Given the description of an element on the screen output the (x, y) to click on. 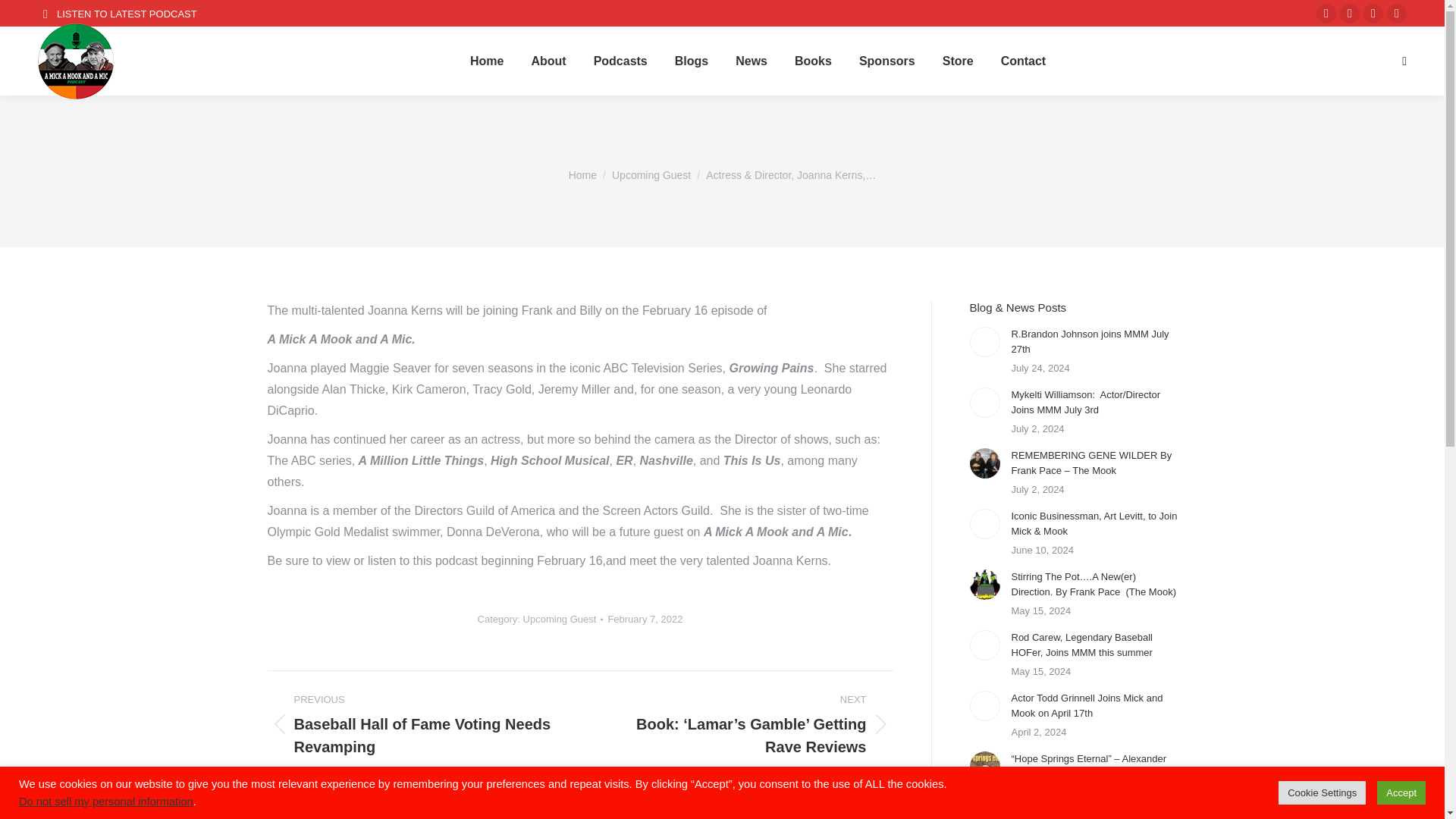
Instagram page opens in new window (1372, 13)
Facebook page opens in new window (1326, 13)
Contact (1023, 60)
X page opens in new window (1349, 13)
LISTEN TO LATEST PODCAST (116, 12)
Go! (24, 16)
Home (582, 174)
Blogs (691, 60)
X page opens in new window (1349, 13)
Facebook page opens in new window (1326, 13)
